Given the description of an element on the screen output the (x, y) to click on. 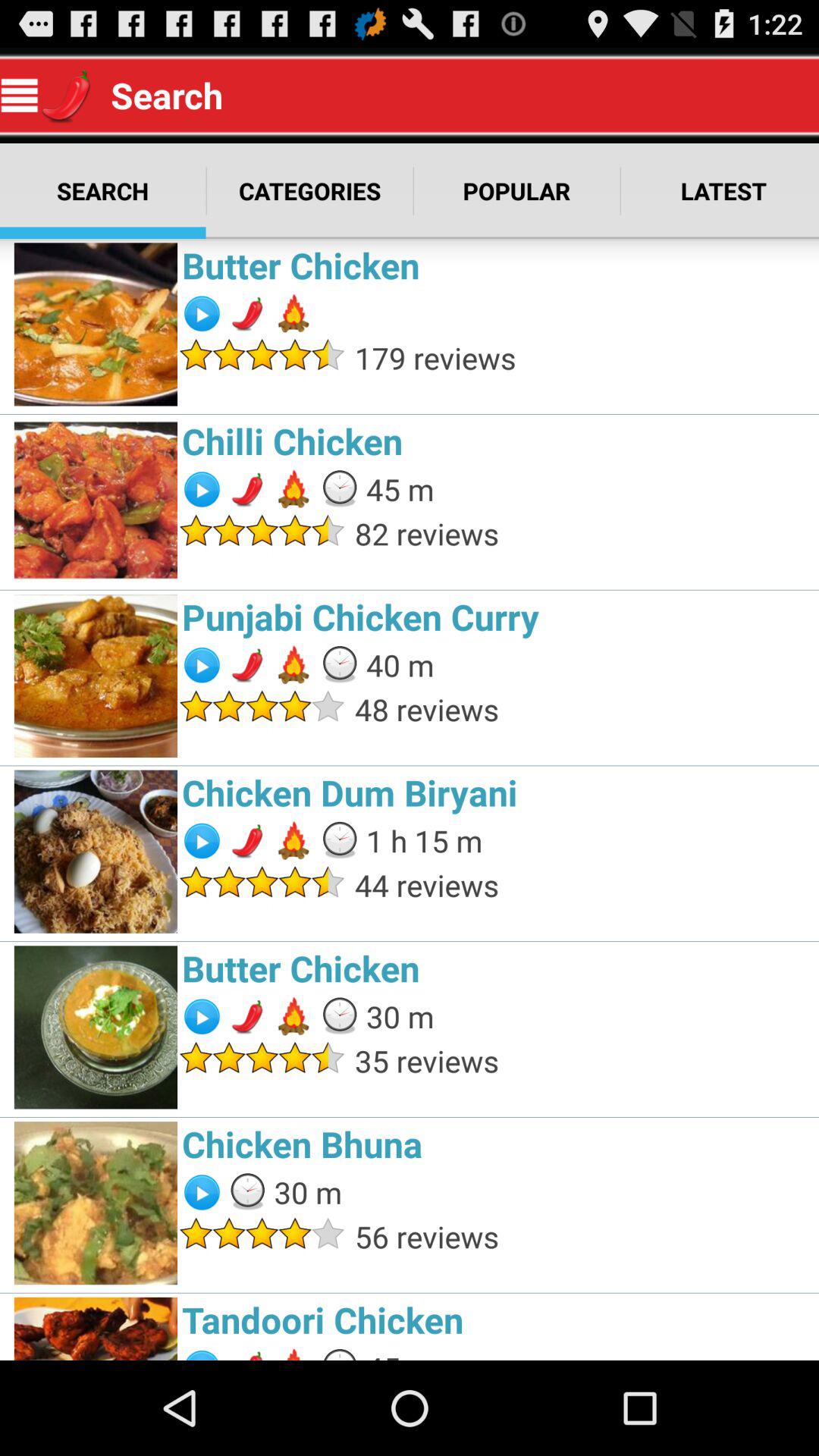
choose 35 reviews (582, 1060)
